Given the description of an element on the screen output the (x, y) to click on. 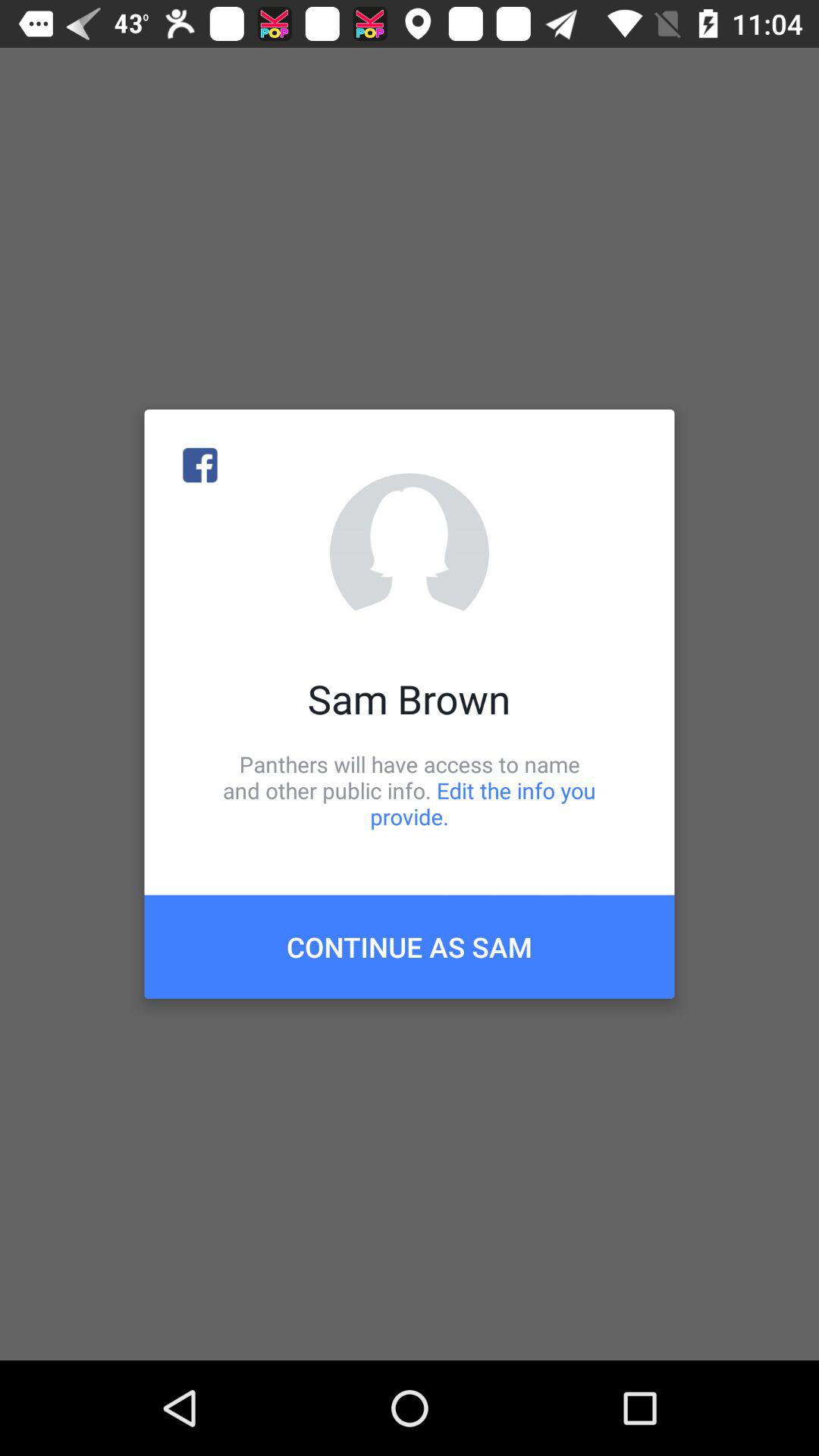
launch icon below the sam brown icon (409, 790)
